Given the description of an element on the screen output the (x, y) to click on. 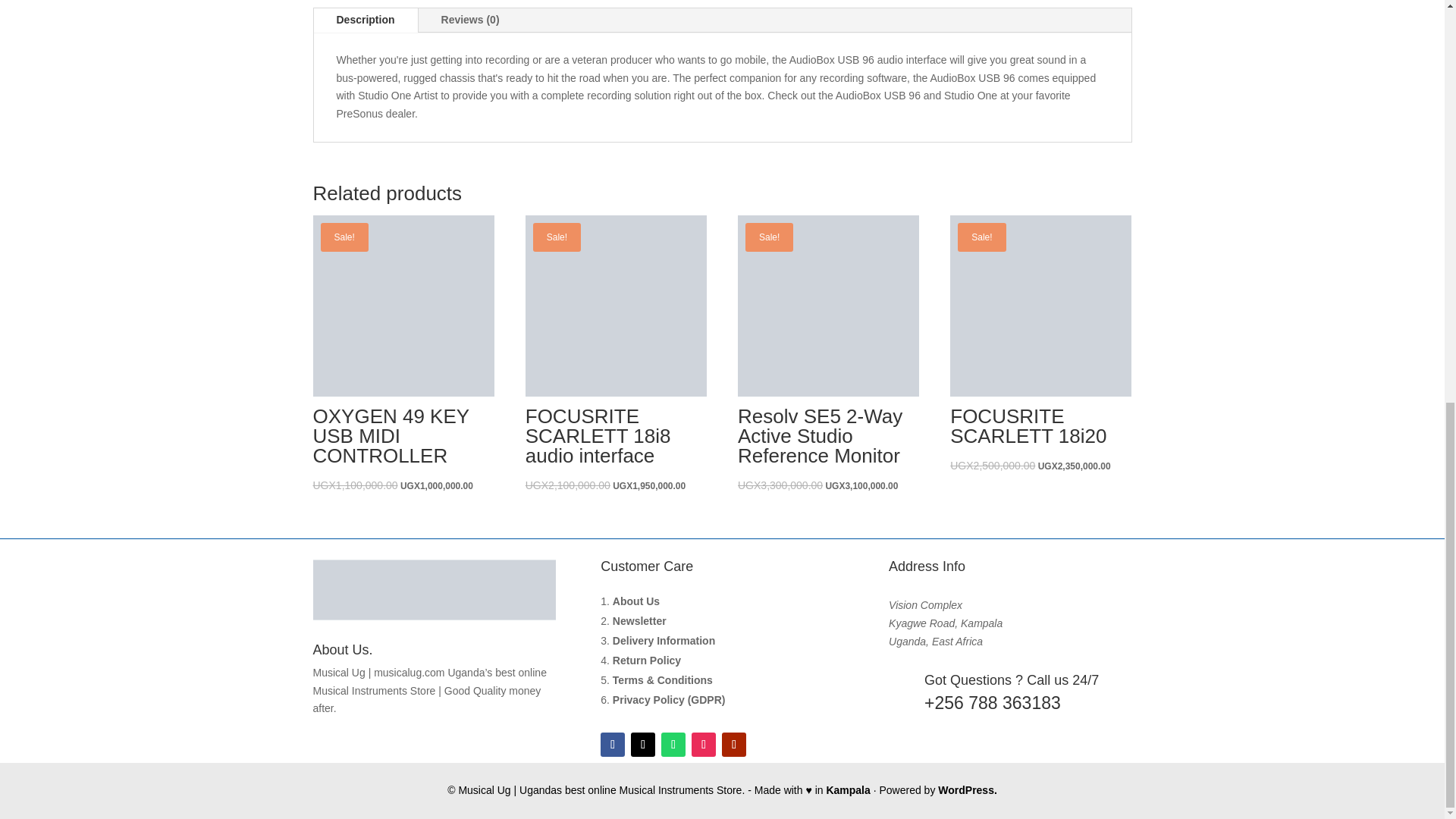
Follow on Facebook (611, 744)
WordPress. (967, 789)
Description (365, 20)
Follow on X (642, 744)
Kampala (847, 789)
Follow on Instagram (703, 744)
Follow on WhatsApp (673, 744)
Follow on Youtube (733, 744)
LOGO 1 new (433, 589)
WordPress. (967, 789)
Kampala (847, 789)
